Given the description of an element on the screen output the (x, y) to click on. 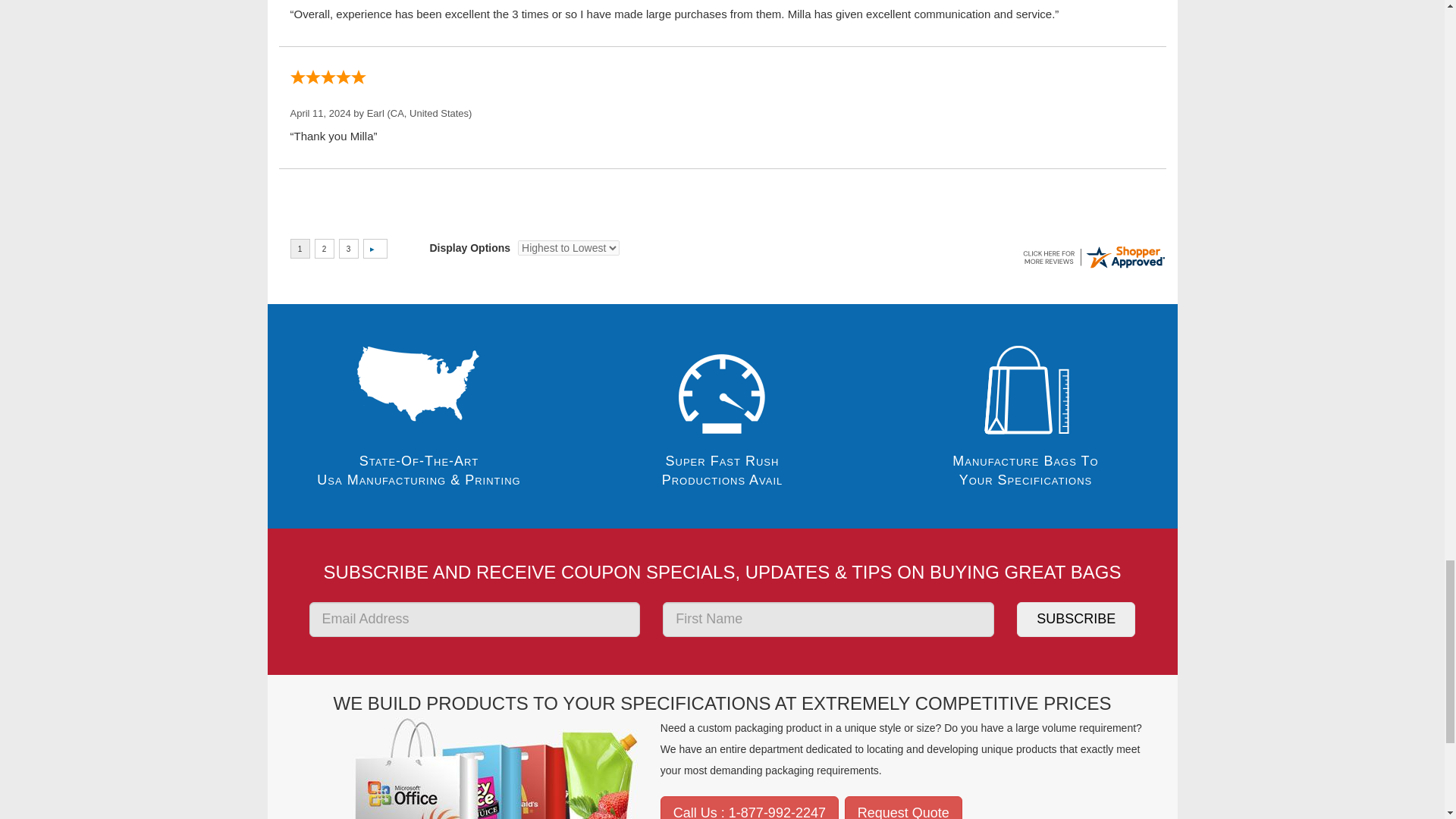
2 (323, 248)
1 (298, 248)
Subscribe (1075, 619)
3 (347, 248)
